Given the description of an element on the screen output the (x, y) to click on. 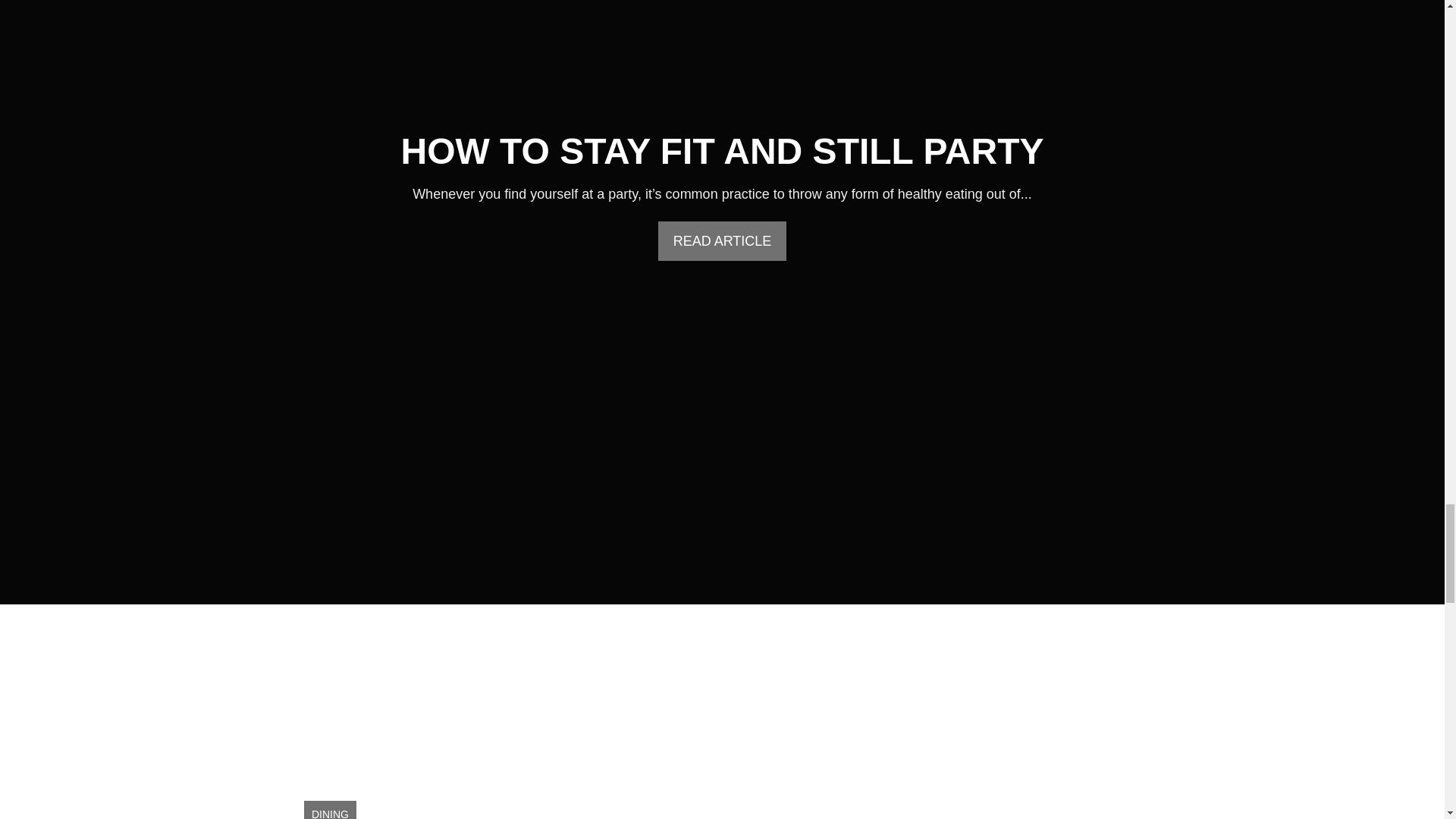
How to Stay Fit and Still Party (721, 151)
